Given the description of an element on the screen output the (x, y) to click on. 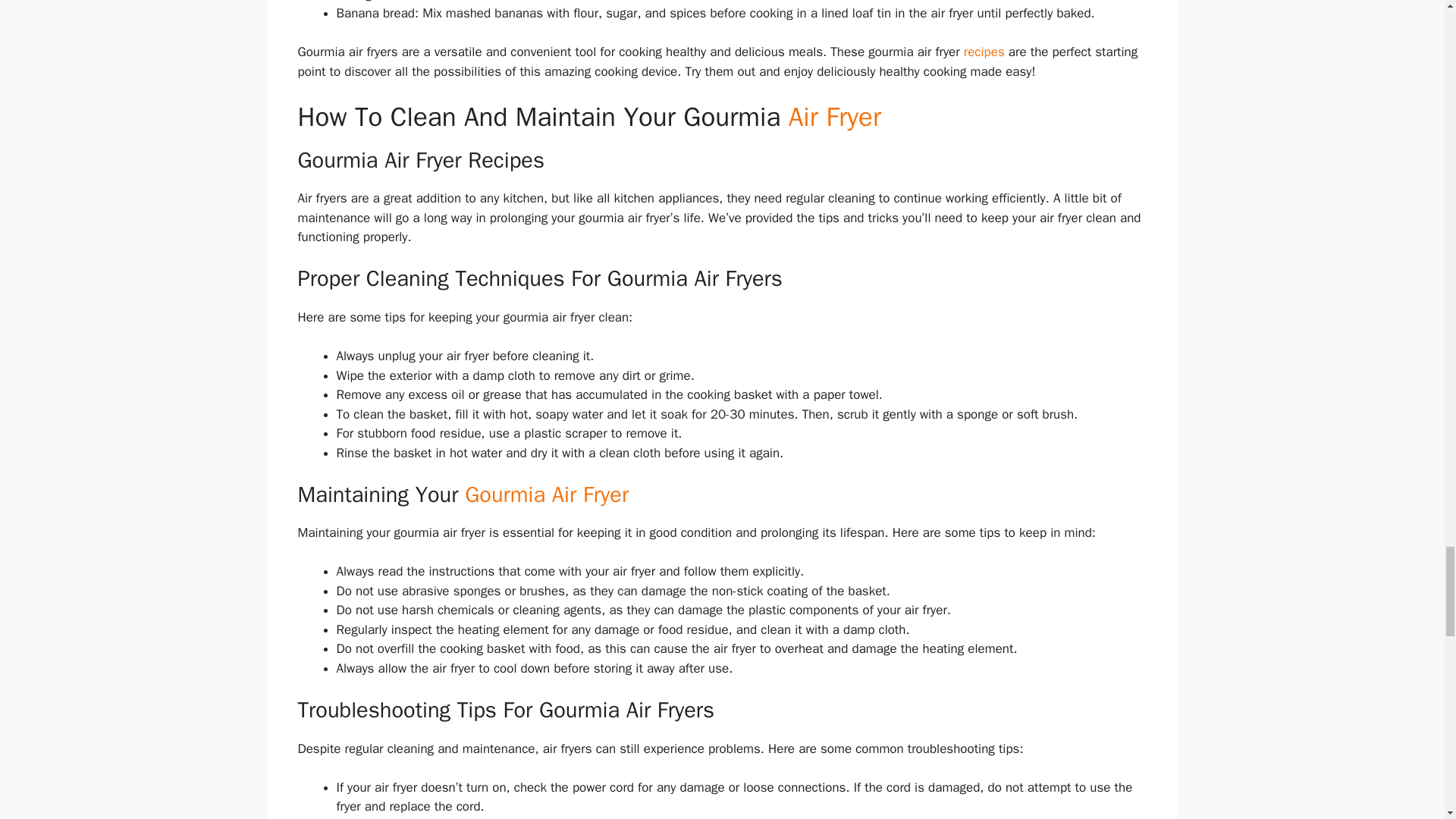
recipes (983, 51)
Air Fryer (834, 116)
Gourmia Air Fryer (546, 494)
